Given the description of an element on the screen output the (x, y) to click on. 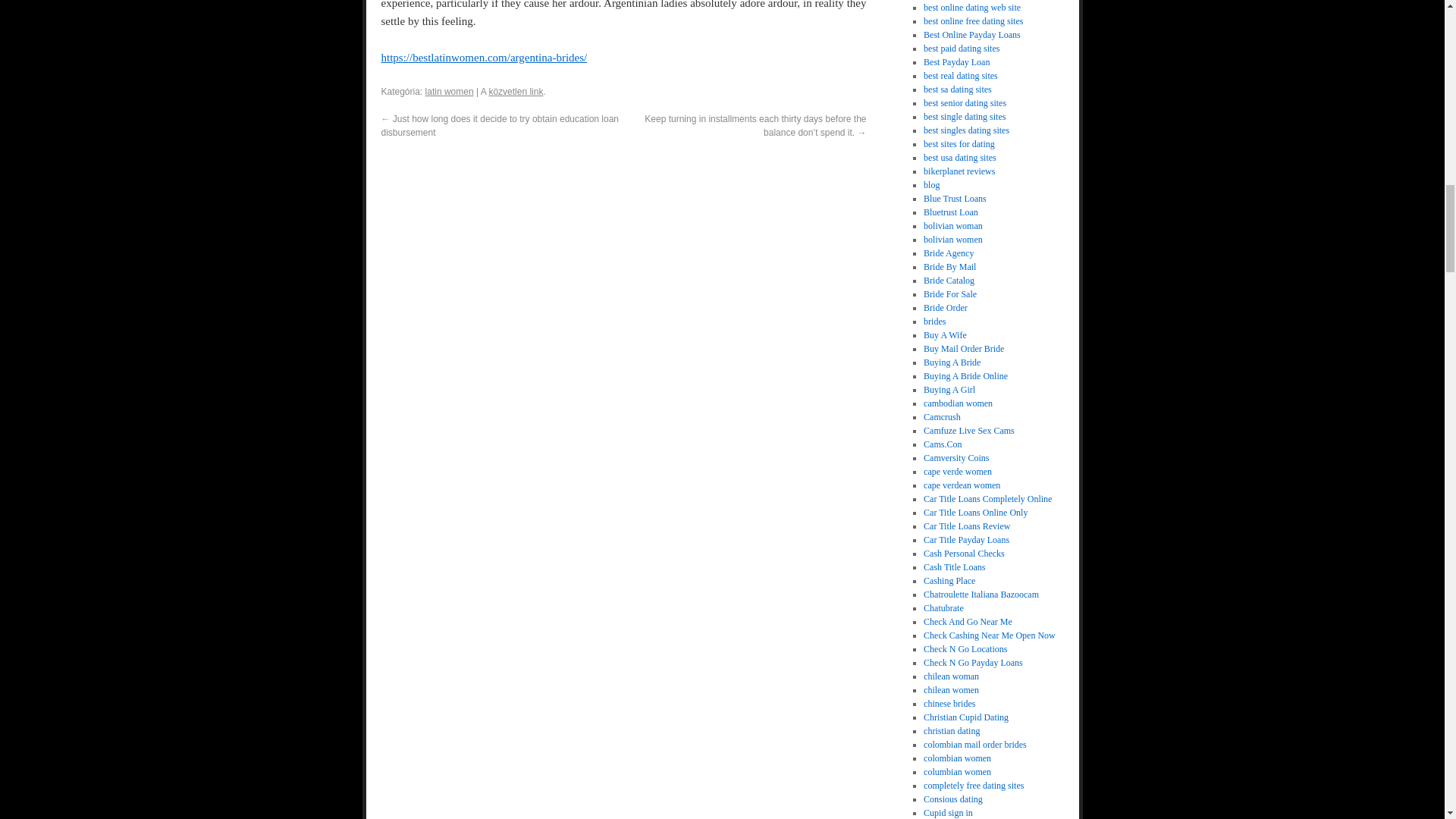
latin women (449, 91)
